Given the description of an element on the screen output the (x, y) to click on. 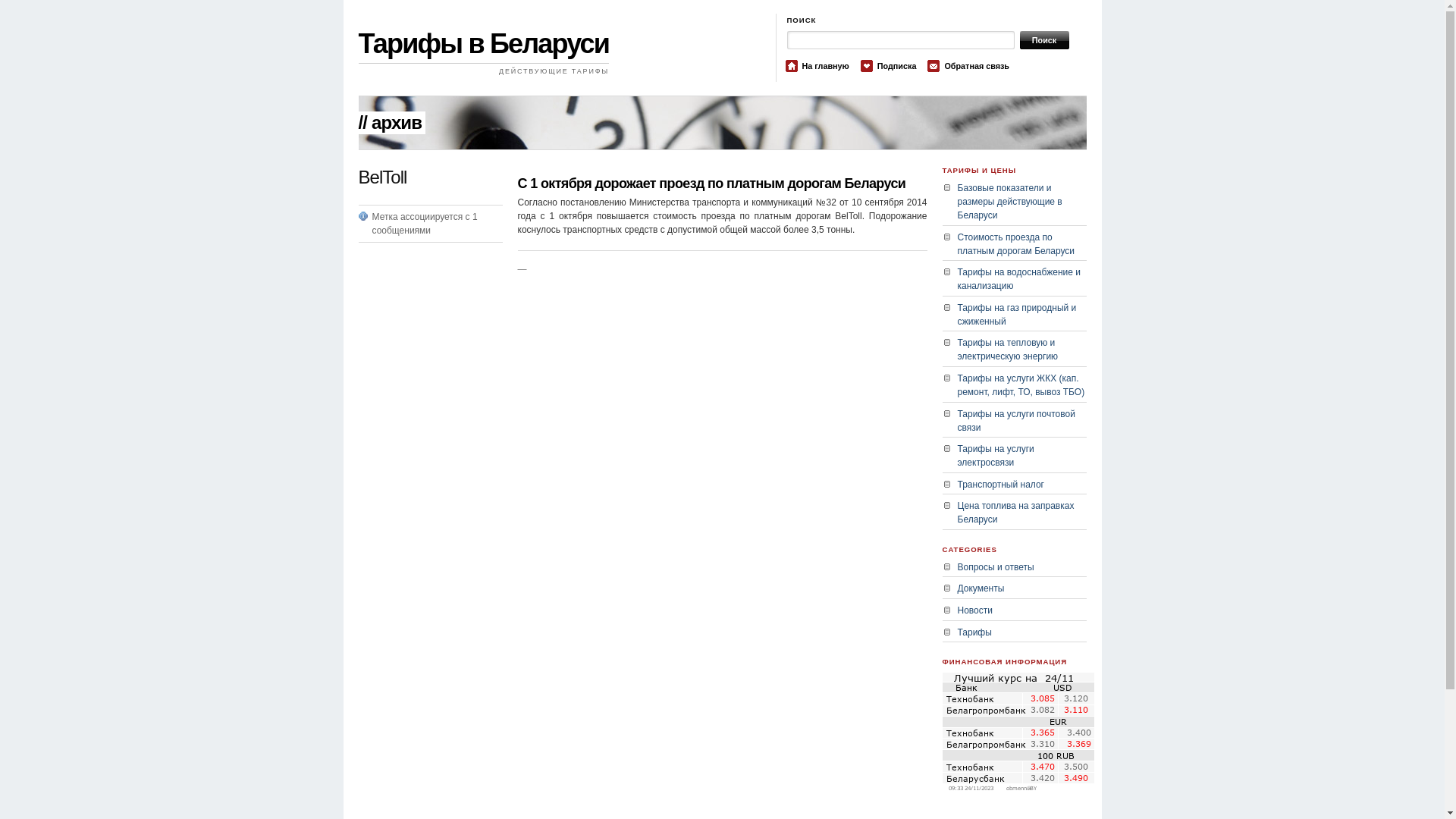
Advertisement Element type: hover (694, 169)
Advertisement Element type: hover (418, 469)
